Given the description of an element on the screen output the (x, y) to click on. 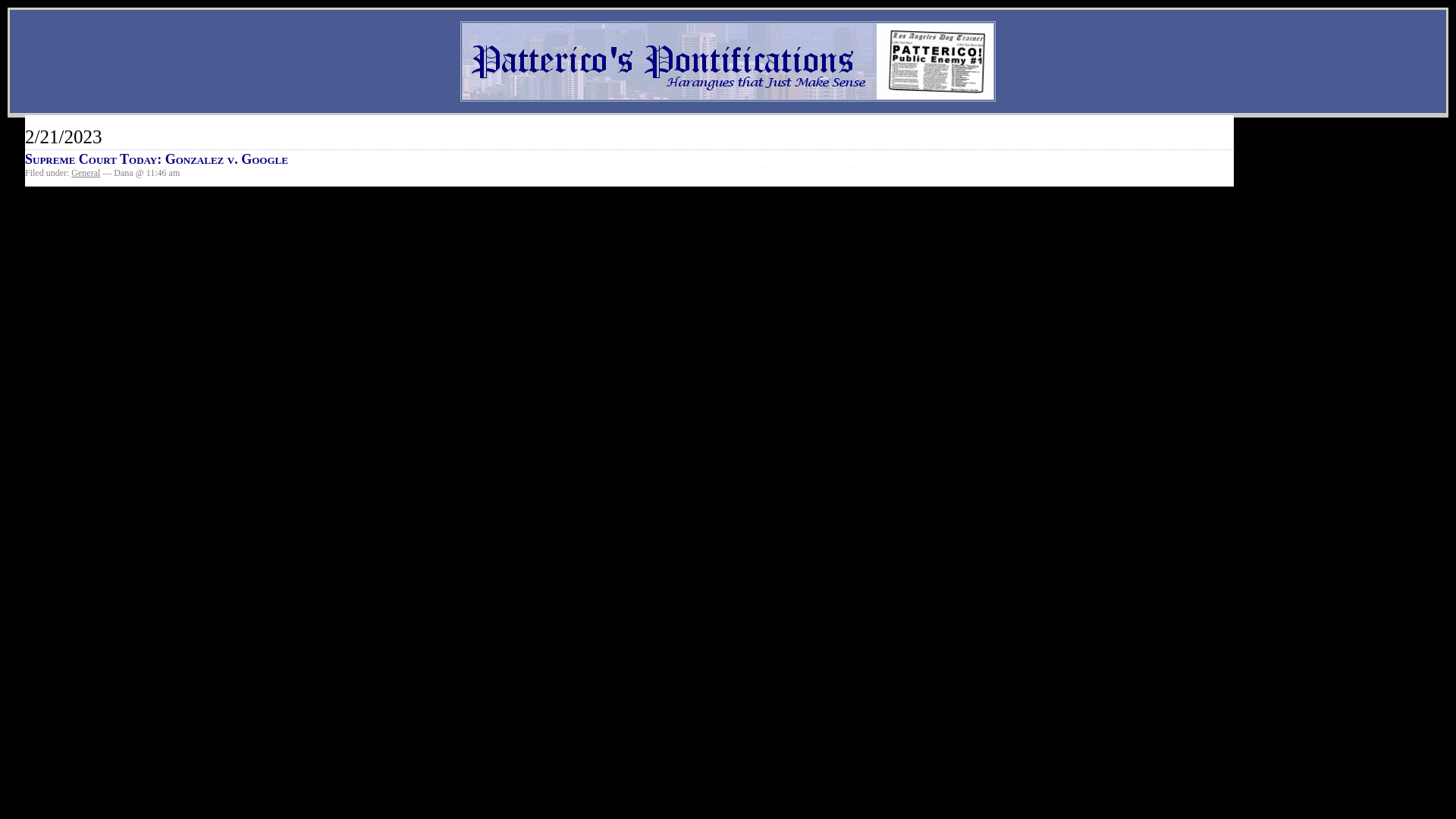
Supreme Court Today: Gonzalez v. Google (156, 159)
General (85, 172)
Supreme Court Today:  Gonzalez v. Google (156, 159)
